Given the description of an element on the screen output the (x, y) to click on. 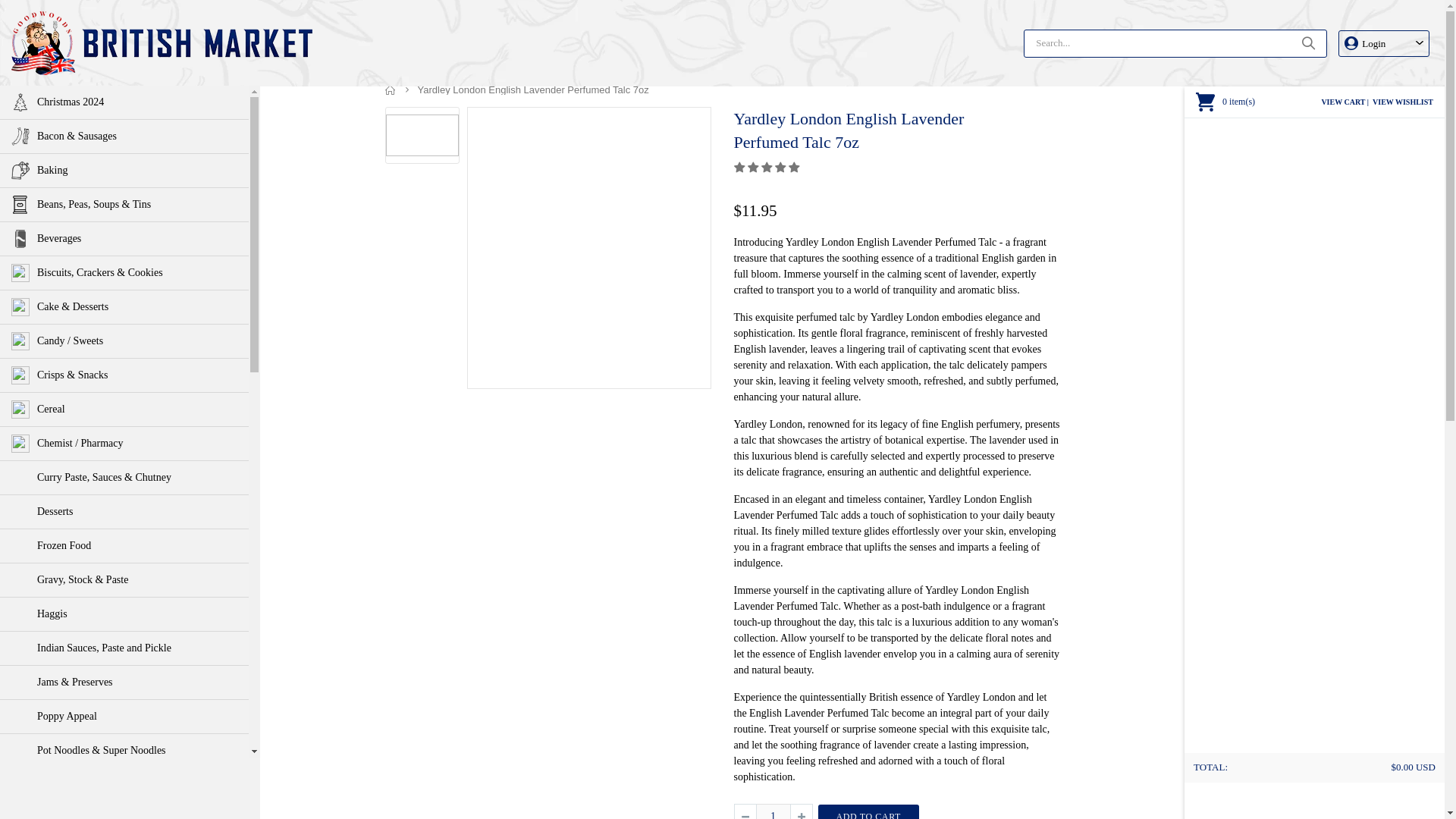
Desserts (124, 511)
Baking (124, 170)
Back to the frontpage (390, 90)
Christmas 2024 (124, 101)
Frozen Food (124, 545)
VIEW WISHLIST (1402, 101)
1 (772, 811)
Search (1307, 43)
Cereal (124, 409)
Login (1383, 43)
